Given the description of an element on the screen output the (x, y) to click on. 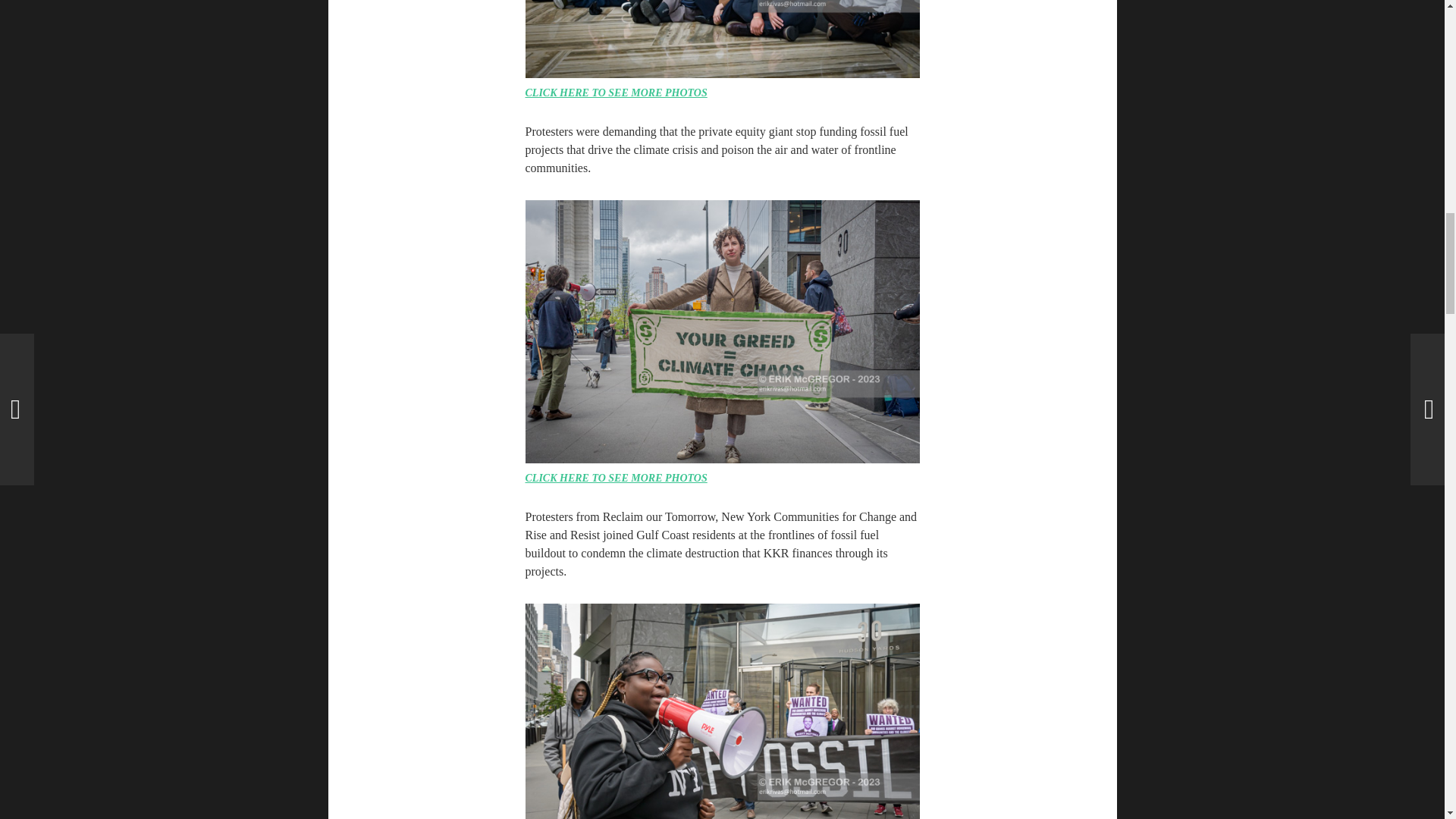
CLICK HERE TO SEE MORE PHOTOS (615, 92)
CLICK HERE TO SEE MORE PHOTOS (615, 478)
